Given the description of an element on the screen output the (x, y) to click on. 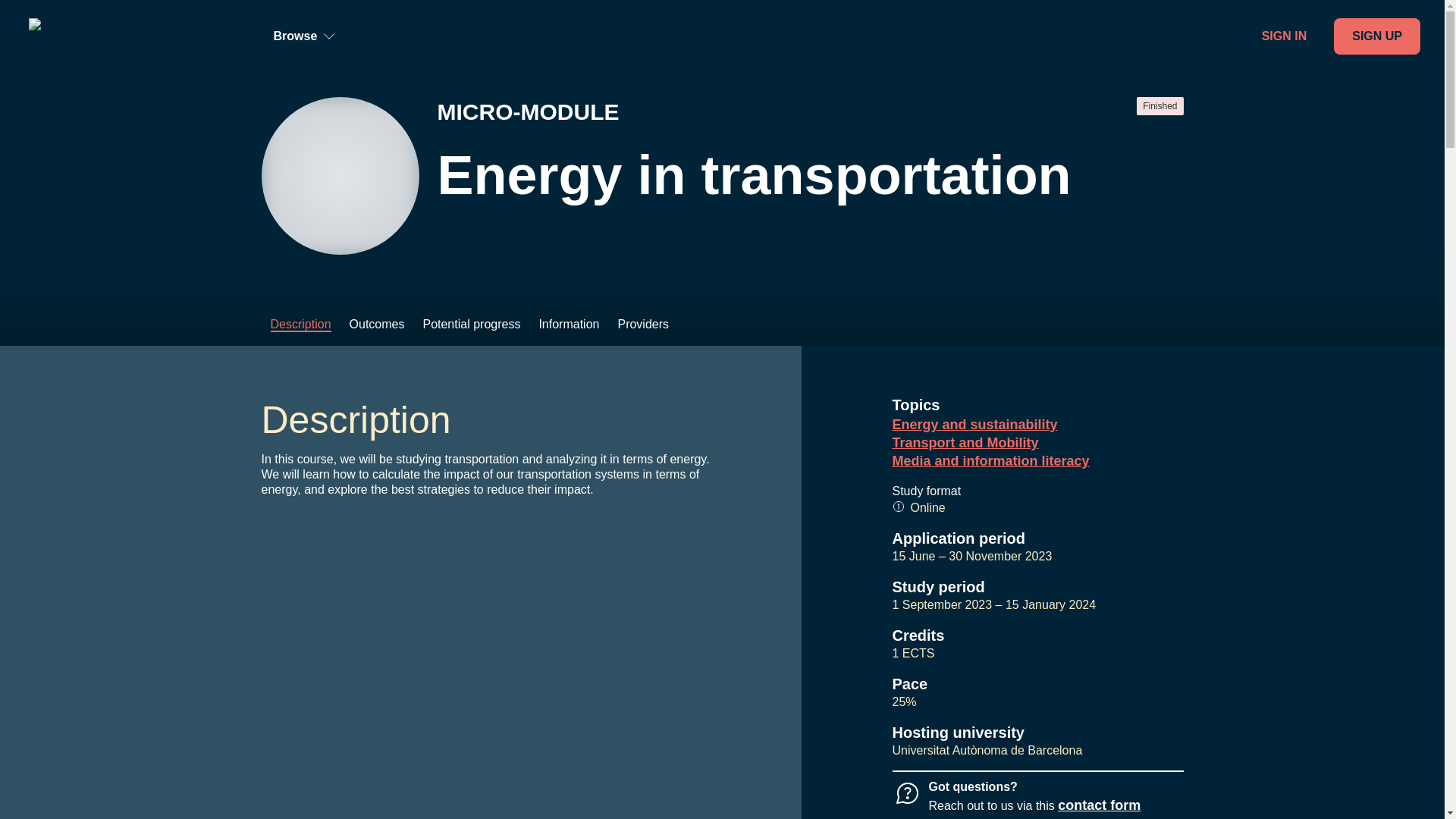
Providers (643, 324)
Potential progress (471, 324)
SIGN IN (1283, 36)
Outcomes (376, 324)
Energy and sustainability (1036, 424)
Information (568, 324)
Browse (303, 35)
Description (299, 324)
contact form (1099, 805)
Media and information literacy (1036, 461)
Transport and Mobility (1036, 443)
SIGN UP (1377, 36)
